Given the description of an element on the screen output the (x, y) to click on. 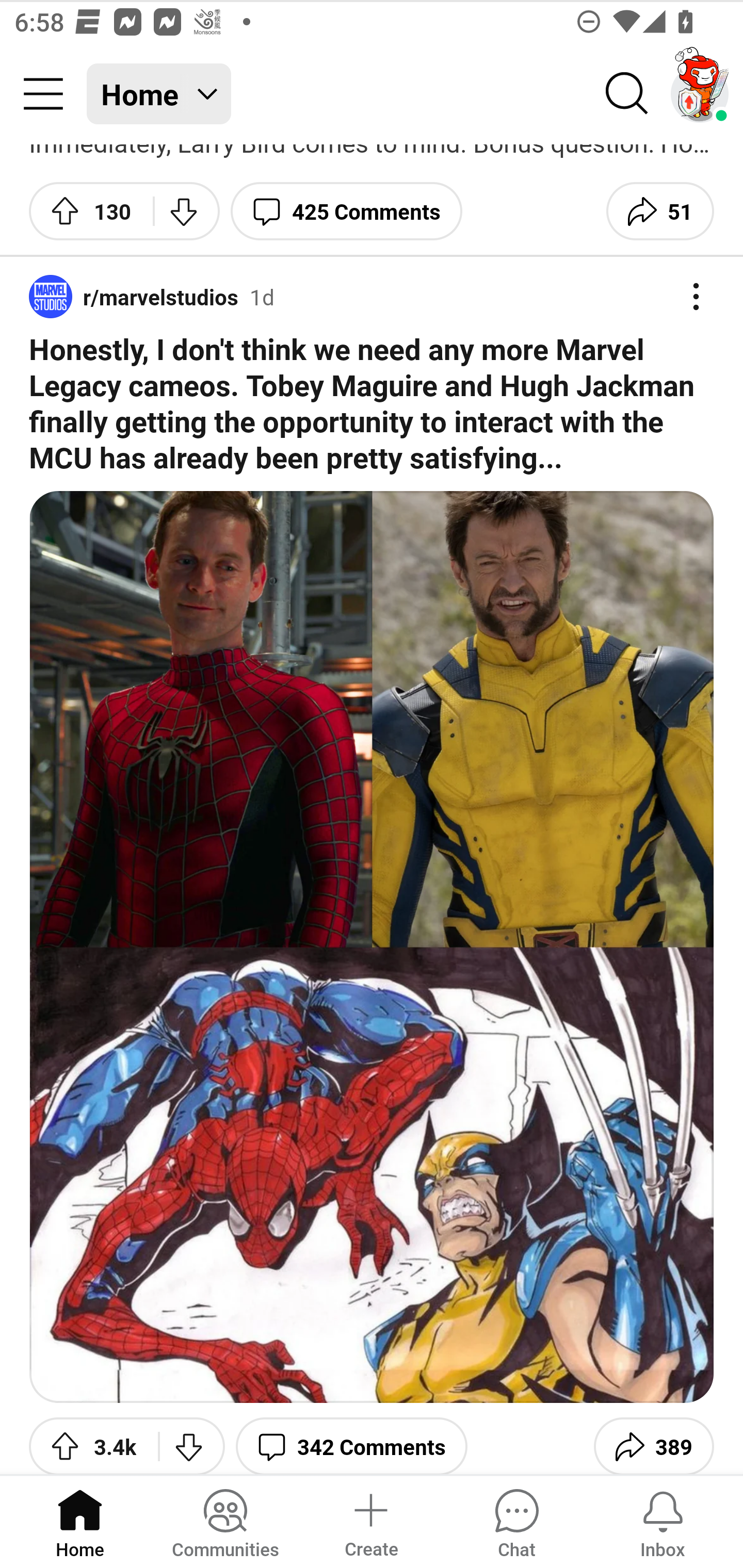
Community menu (43, 93)
Home Home feed (158, 93)
Search (626, 93)
TestAppium002 account (699, 93)
Home (80, 1520)
Communities (225, 1520)
Create a post Create (370, 1520)
Chat (516, 1520)
Inbox (662, 1520)
